Given the description of an element on the screen output the (x, y) to click on. 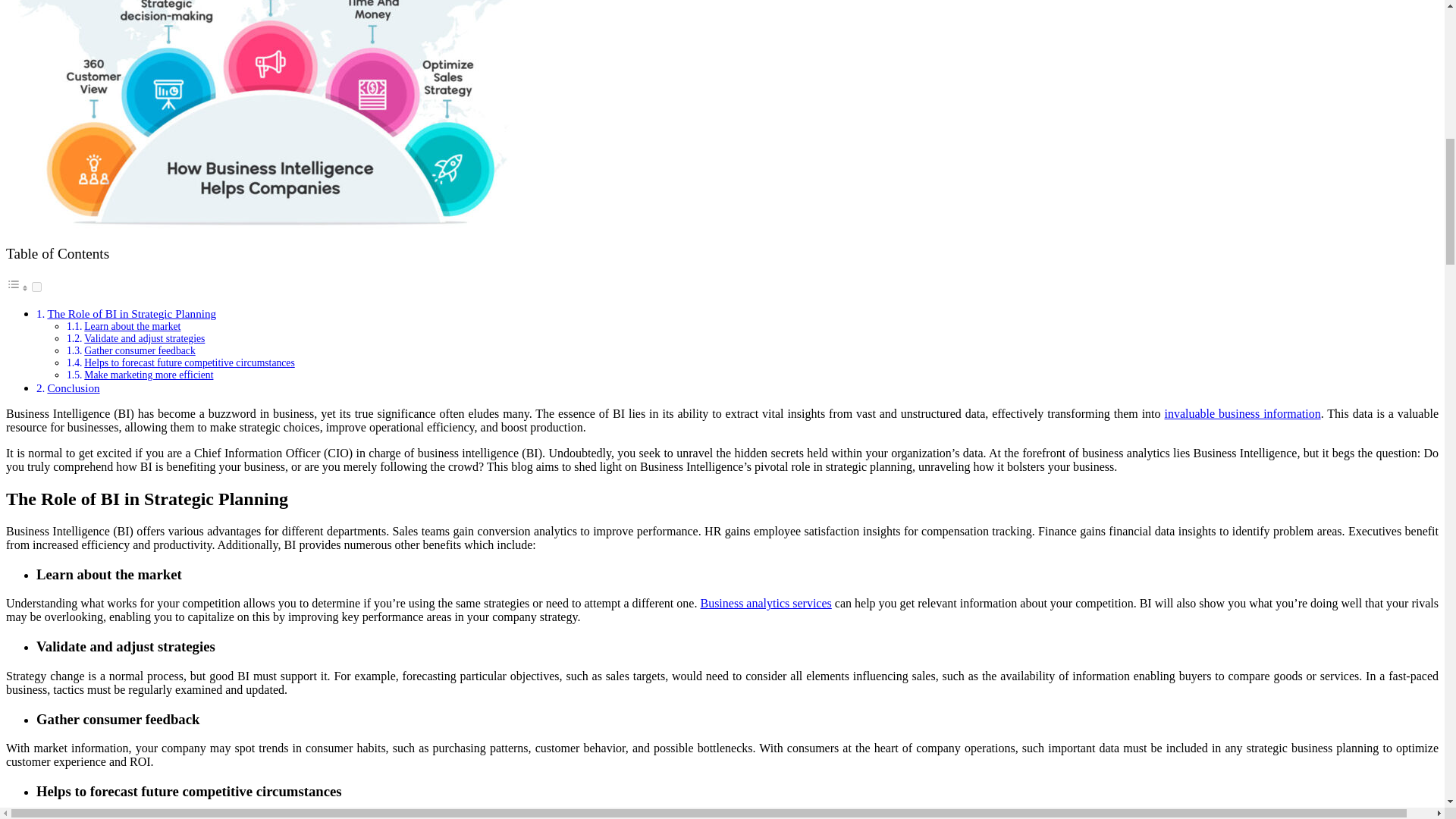
The Role of BI in Strategic Planning (130, 313)
on (37, 286)
Strategic-Planning (269, 114)
Validate and adjust strategies (144, 337)
Learn about the market (132, 326)
The Role of BI in Strategic Planning (130, 313)
Learn about the market (132, 326)
